Given the description of an element on the screen output the (x, y) to click on. 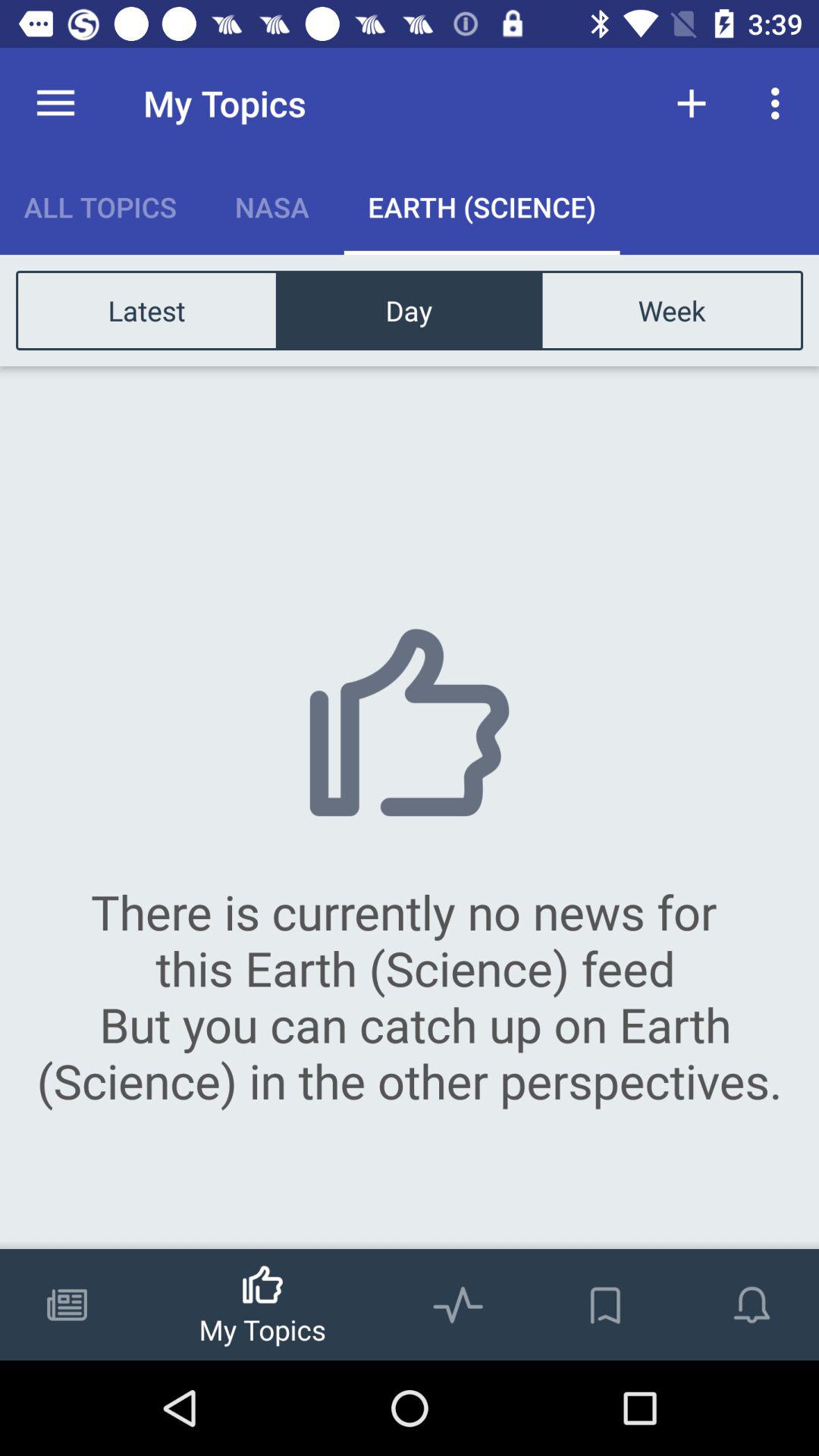
press item to the left of day item (146, 310)
